Given the description of an element on the screen output the (x, y) to click on. 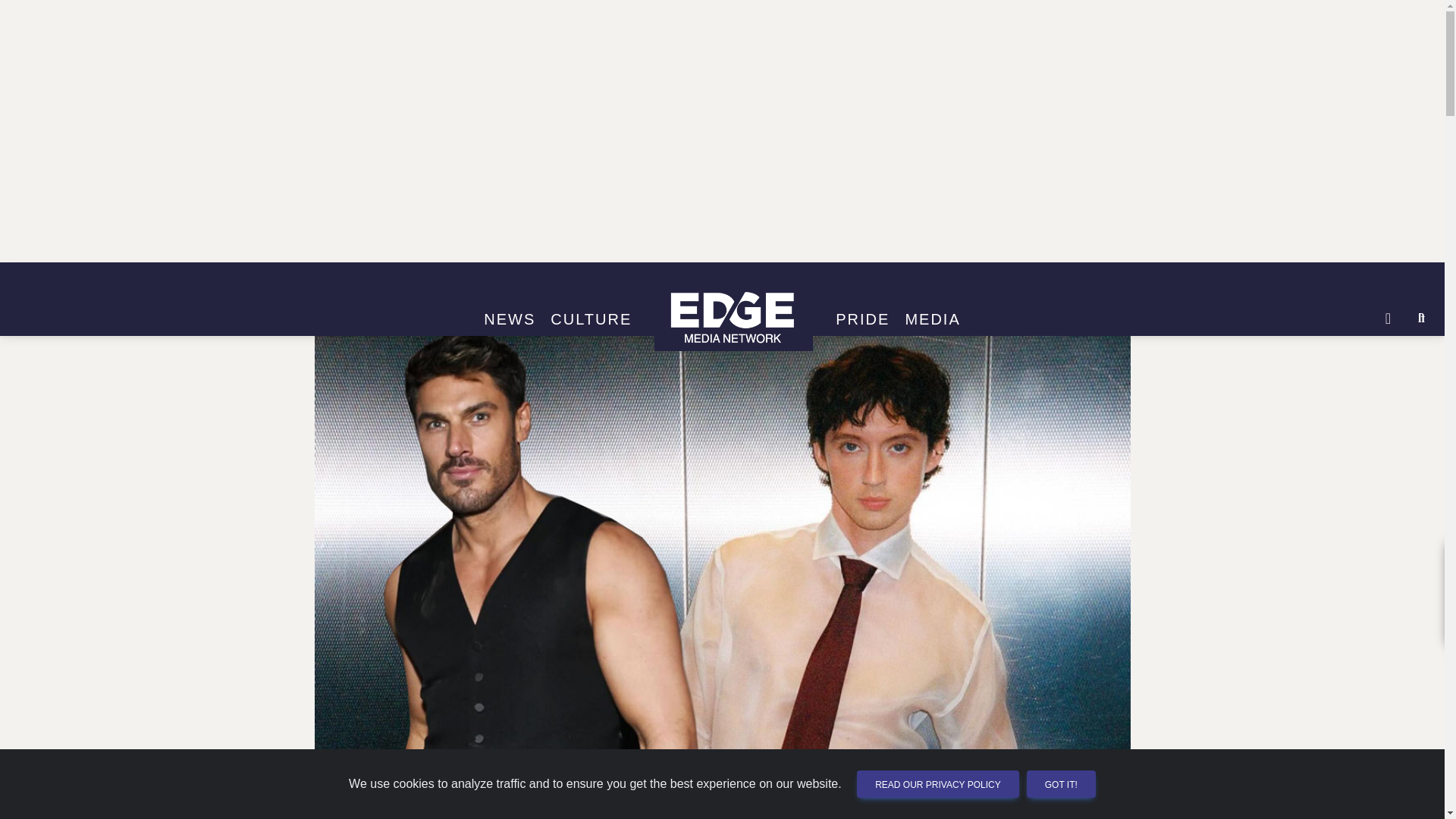
NEWS (509, 319)
MEDIA (932, 319)
CULTURE (591, 319)
PRIDE (862, 319)
